Given the description of an element on the screen output the (x, y) to click on. 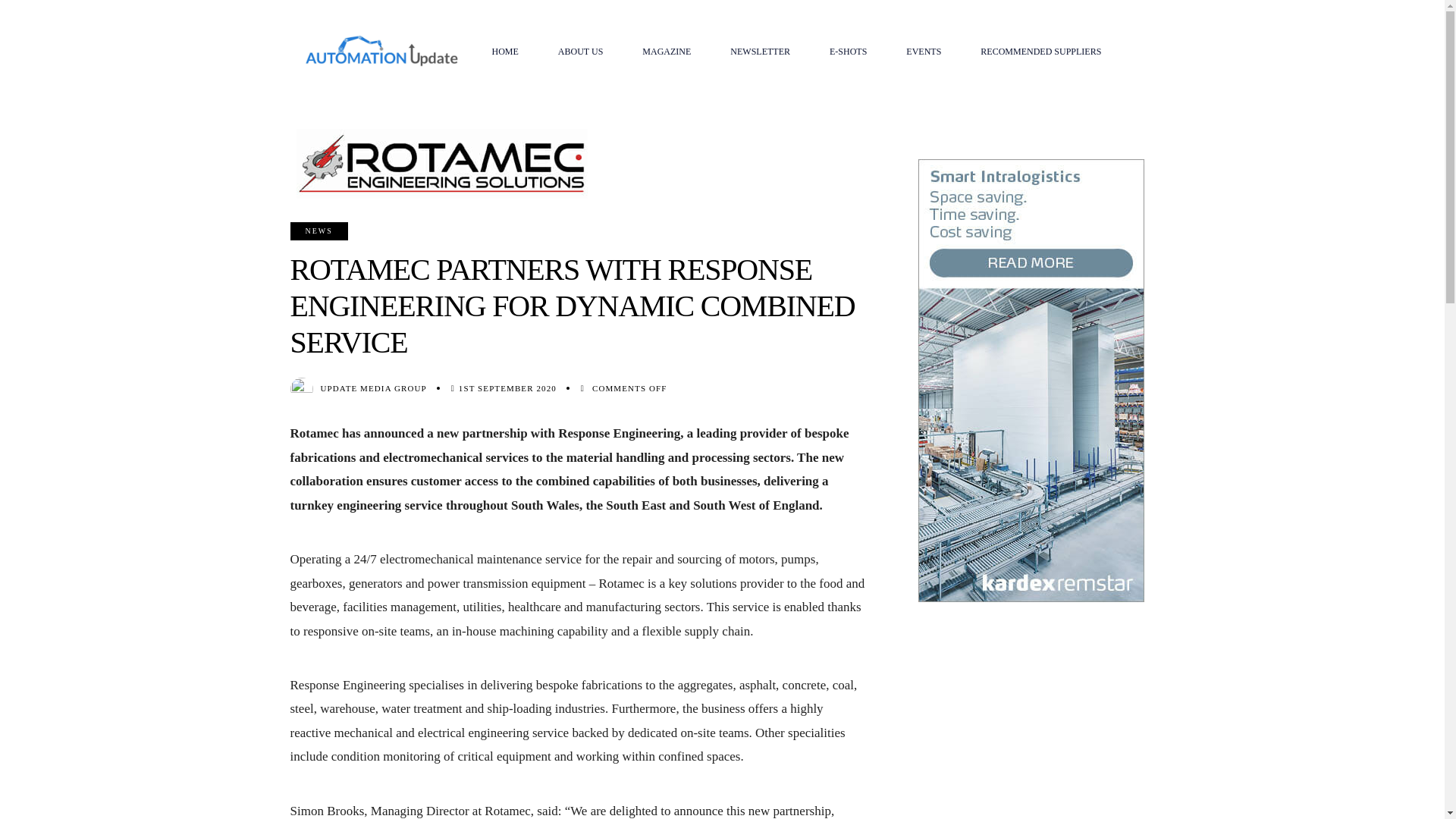
E-SHOTS (847, 51)
NEWS (318, 230)
Automation Update (381, 51)
HOME (504, 51)
EVENTS (923, 51)
RECOMMENDED SUPPLIERS (1040, 51)
UPDATE MEDIA GROUP (373, 388)
NEWSLETTER (759, 51)
Posts by Update Media Group (373, 388)
MAGAZINE (666, 51)
ABOUT US (580, 51)
